Given the description of an element on the screen output the (x, y) to click on. 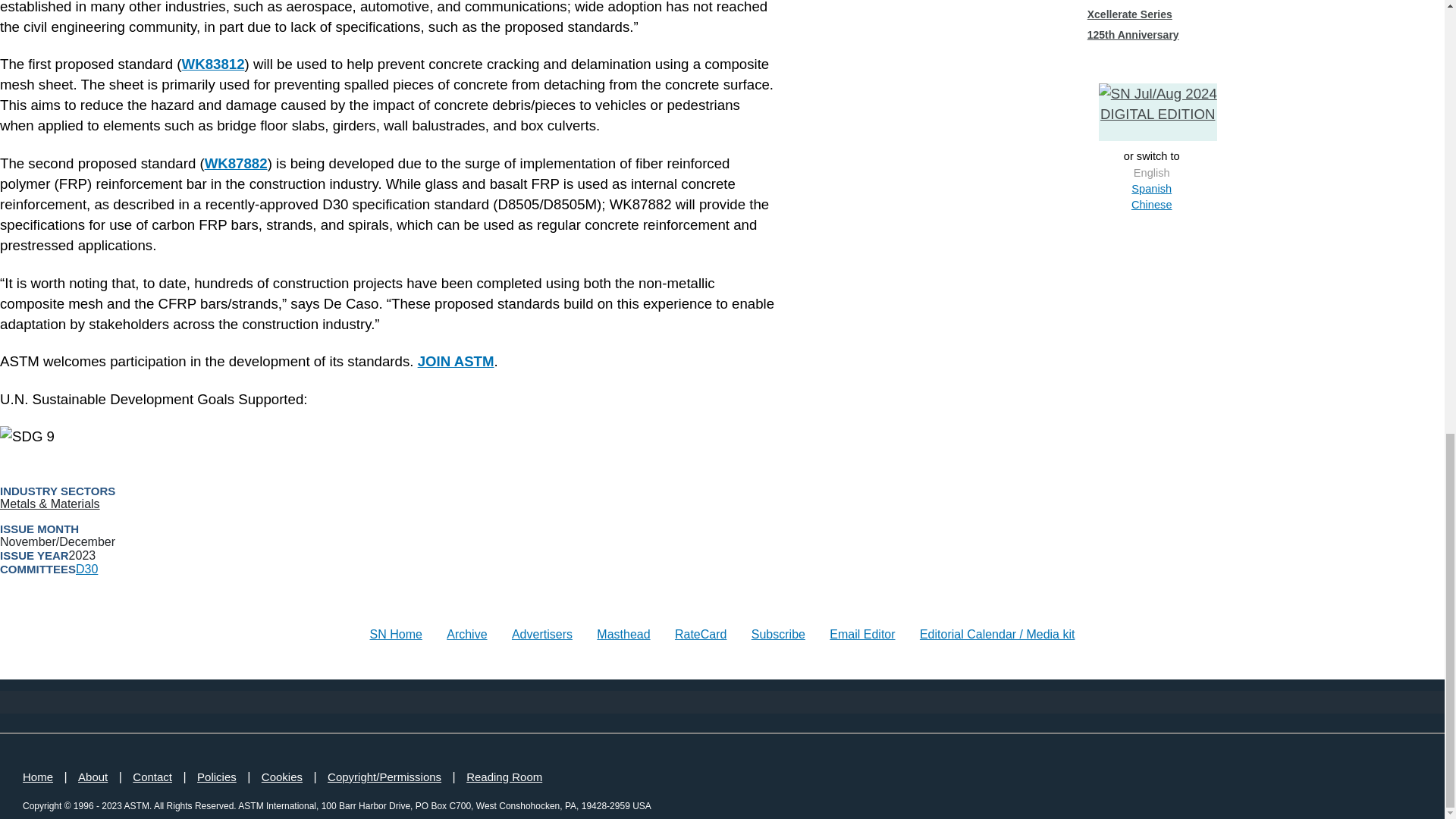
WK87882 (236, 163)
JOIN ASTM (456, 360)
125th Anniversary (1133, 34)
Xcellerate Series (1129, 14)
Editorial Calendar (395, 634)
D30 (86, 568)
WK83812 (213, 64)
Editorial Calendar and Media Kit (997, 634)
JOIN (456, 360)
